Given the description of an element on the screen output the (x, y) to click on. 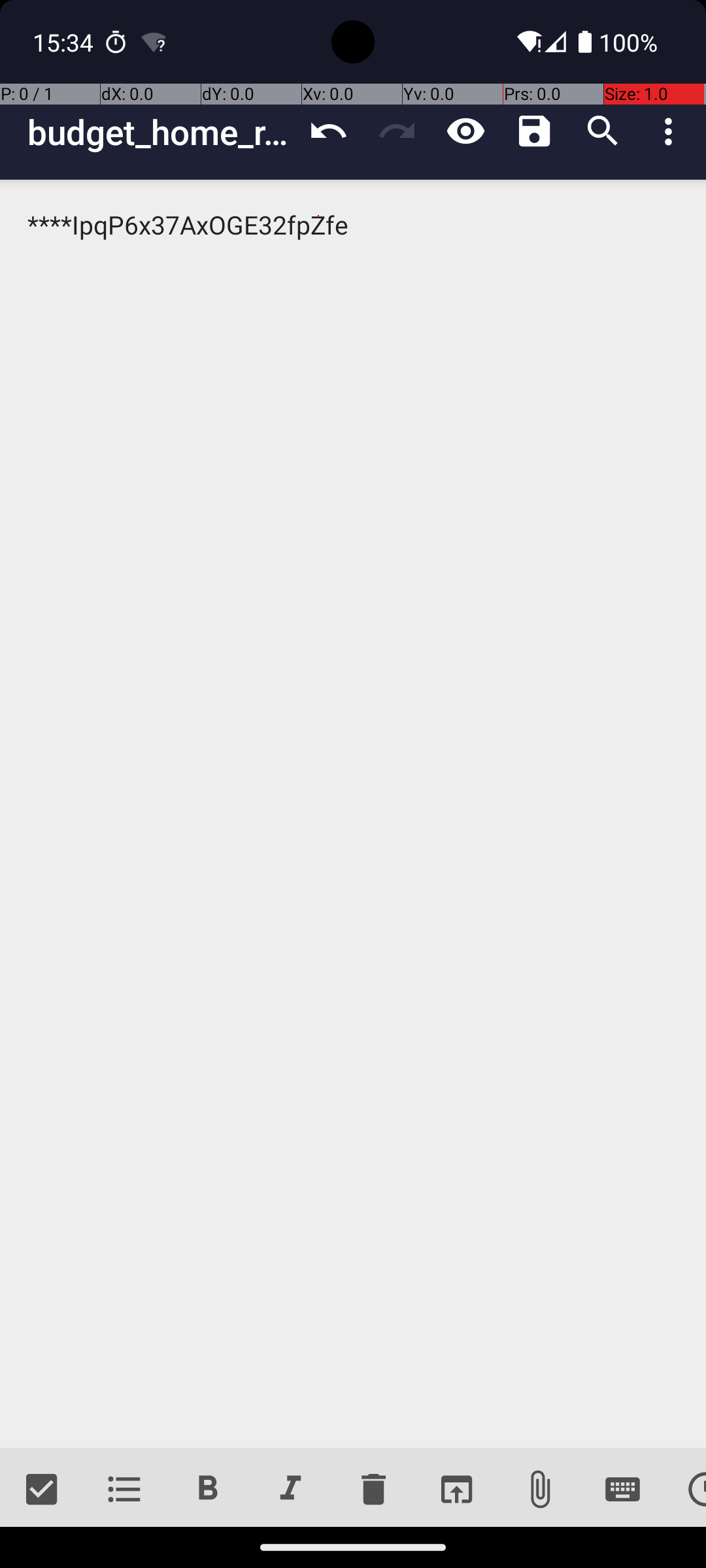
budget_home_renovation_copy Element type: android.widget.TextView (160, 131)
****IpqP6x37AxOGE32fpZfe
 Element type: android.widget.EditText (353, 813)
